Given the description of an element on the screen output the (x, y) to click on. 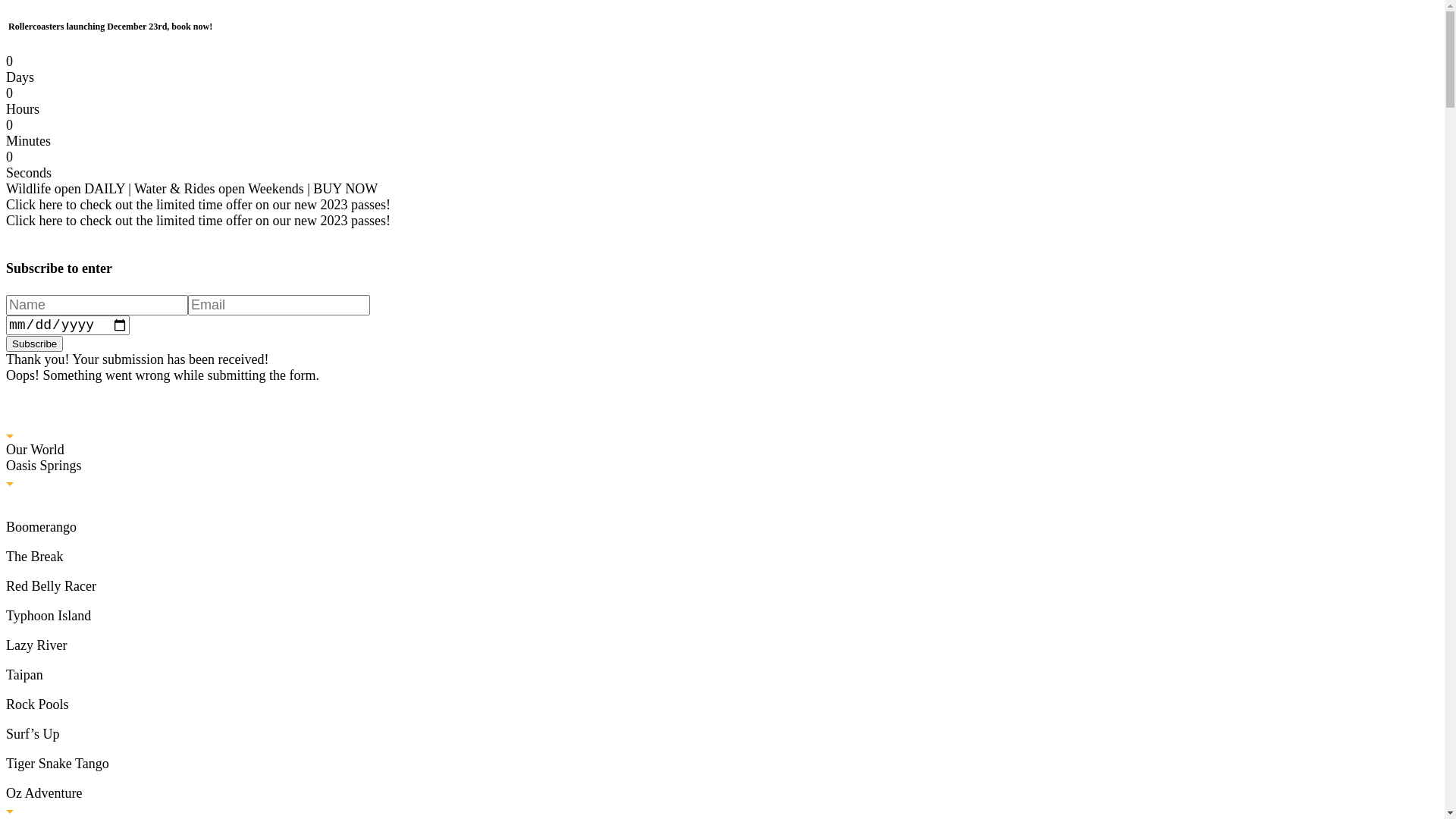
Red Belly Racer Element type: text (722, 586)
Tiger Snake Tango Element type: text (722, 763)
Taipan Element type: text (722, 675)
The Break Element type: text (722, 556)
Typhoon Island Element type: text (722, 616)
Boomerango Element type: text (722, 527)
Subscribe Element type: text (34, 343)
Rock Pools Element type: text (722, 704)
Lazy River Element type: text (722, 645)
